Given the description of an element on the screen output the (x, y) to click on. 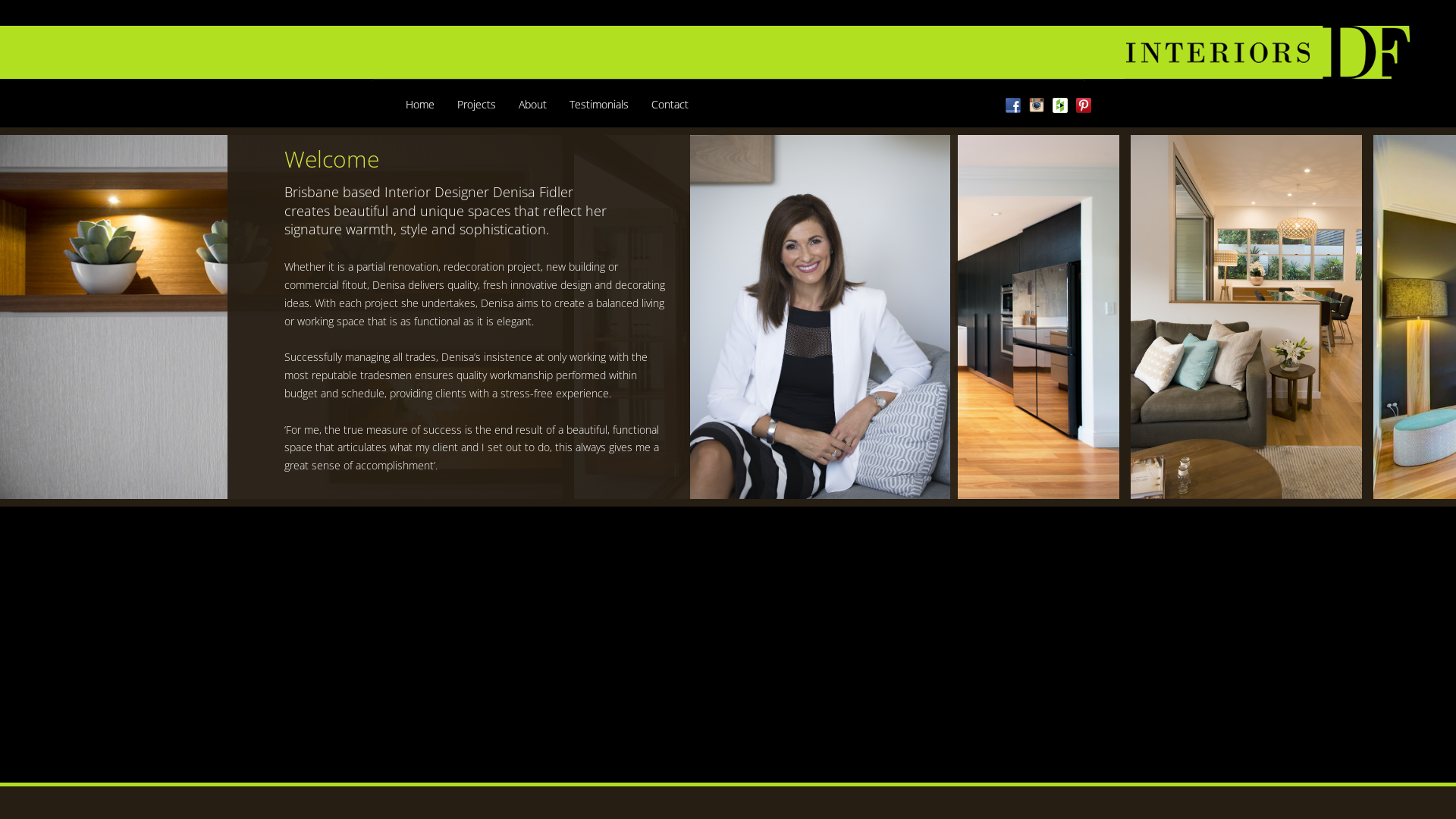
Home Element type: text (419, 104)
Testimonials Element type: text (598, 104)
Contact Element type: text (669, 104)
Projects Element type: text (476, 104)
About Element type: text (531, 104)
